Given the description of an element on the screen output the (x, y) to click on. 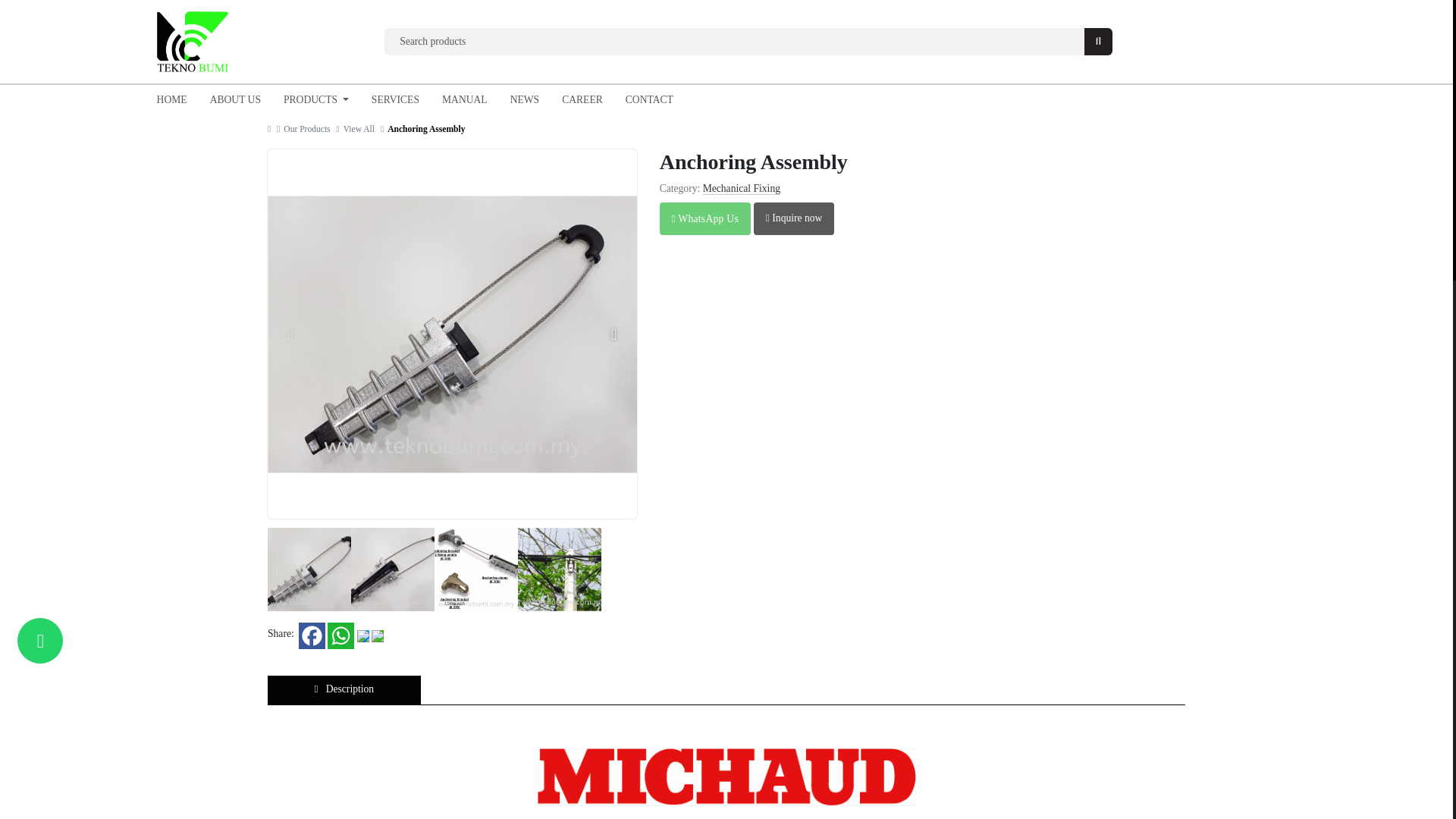
Home (171, 100)
Anchoring Assembly (425, 129)
MANUAL (464, 100)
Our Products (307, 129)
NEWS (525, 100)
CAREER (582, 100)
Tekno Bumi Sdn Bhd (192, 41)
SERVICES (394, 100)
Services (394, 100)
CONTACT (649, 100)
Career (582, 100)
News (525, 100)
PRODUCTS (315, 100)
Inquire now (794, 218)
Manual (464, 100)
